Given the description of an element on the screen output the (x, y) to click on. 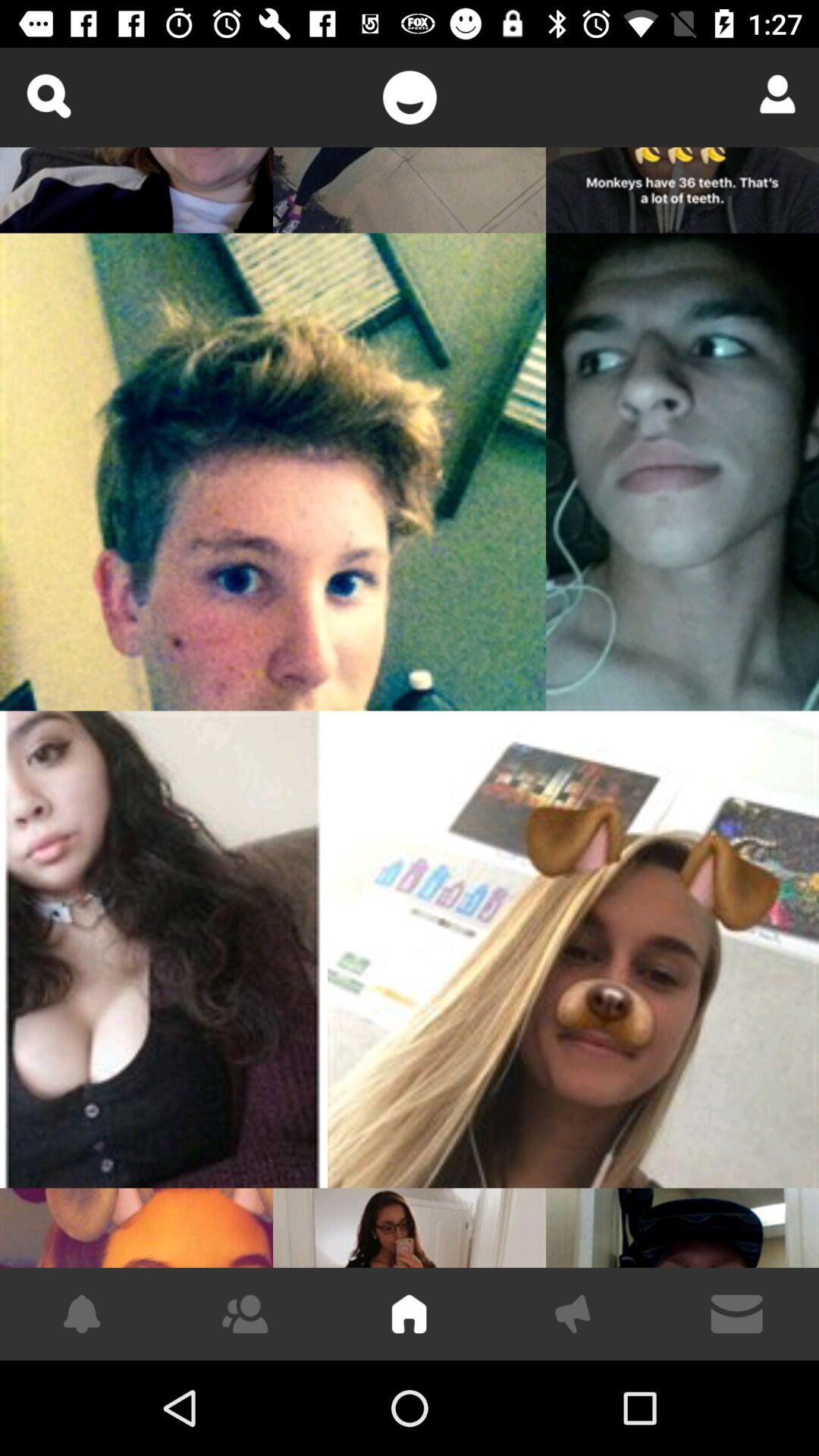
turn on the icon on the right (573, 949)
